Given the description of an element on the screen output the (x, y) to click on. 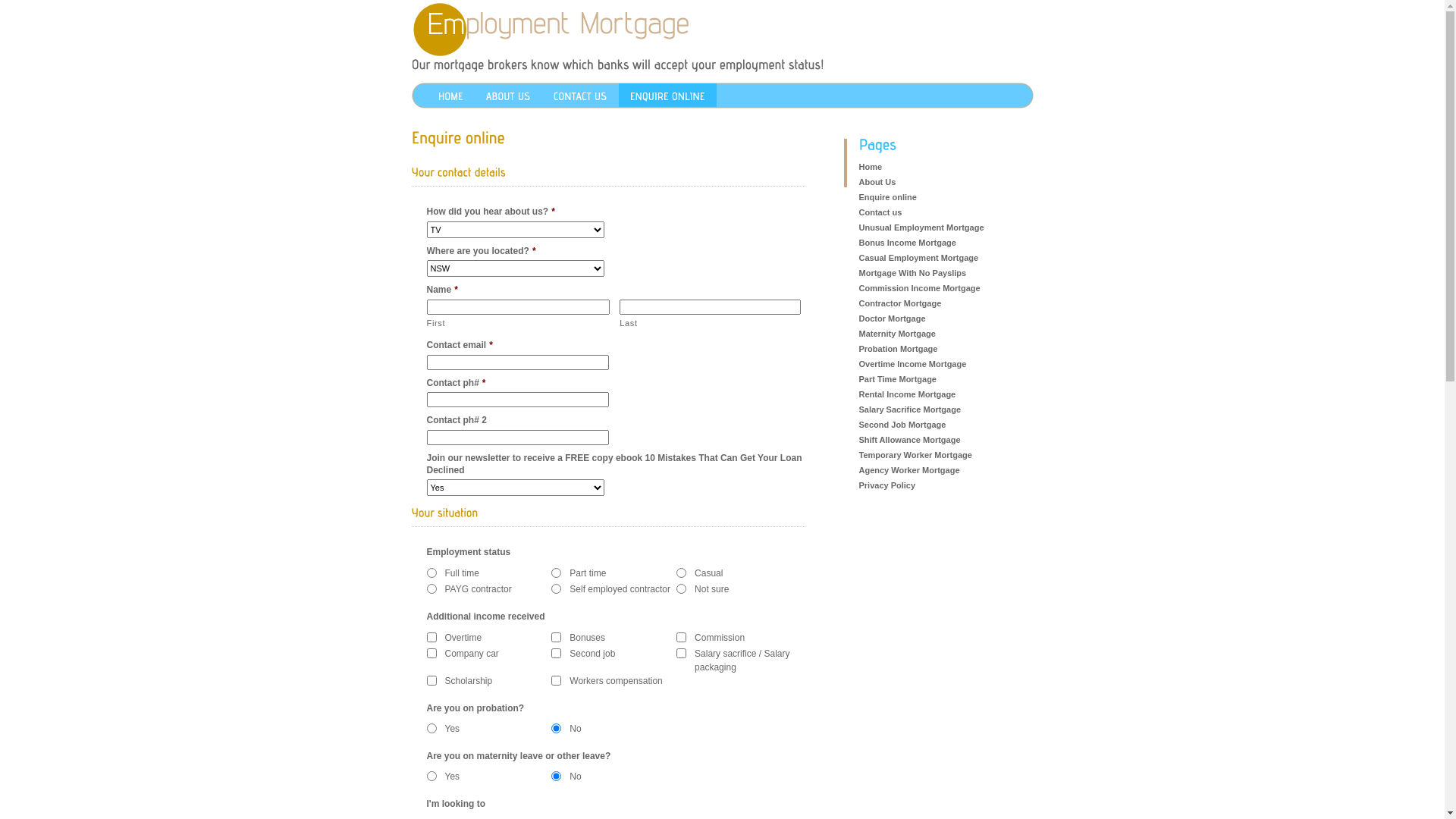
Privacy Policy Element type: text (886, 484)
Enquire online Element type: text (887, 196)
Probation Mortgage Element type: text (897, 348)
Overtime Income Mortgage Element type: text (912, 363)
Temporary Worker Mortgage Element type: text (914, 454)
Bonus Income Mortgage Element type: text (906, 242)
Contact us Element type: text (879, 211)
About Us Element type: text (876, 181)
Casual Employment Mortgage Element type: text (918, 257)
Salary Sacrifice Mortgage Element type: text (909, 409)
Second Job Mortgage Element type: text (901, 424)
Unusual Employment Mortgage Element type: text (920, 227)
Rental Income Mortgage Element type: text (906, 393)
Commission Income Mortgage Element type: text (918, 287)
Maternity Mortgage Element type: text (896, 333)
Agency Worker Mortgage Element type: text (908, 469)
Doctor Mortgage Element type: text (891, 318)
Home Element type: text (869, 166)
Employment Mortgage  Element type: hover (567, 29)
Shift Allowance Mortgage Element type: text (909, 439)
Part Time Mortgage Element type: text (897, 378)
Mortgage With No Payslips Element type: text (912, 272)
Contractor Mortgage Element type: text (899, 302)
